Given the description of an element on the screen output the (x, y) to click on. 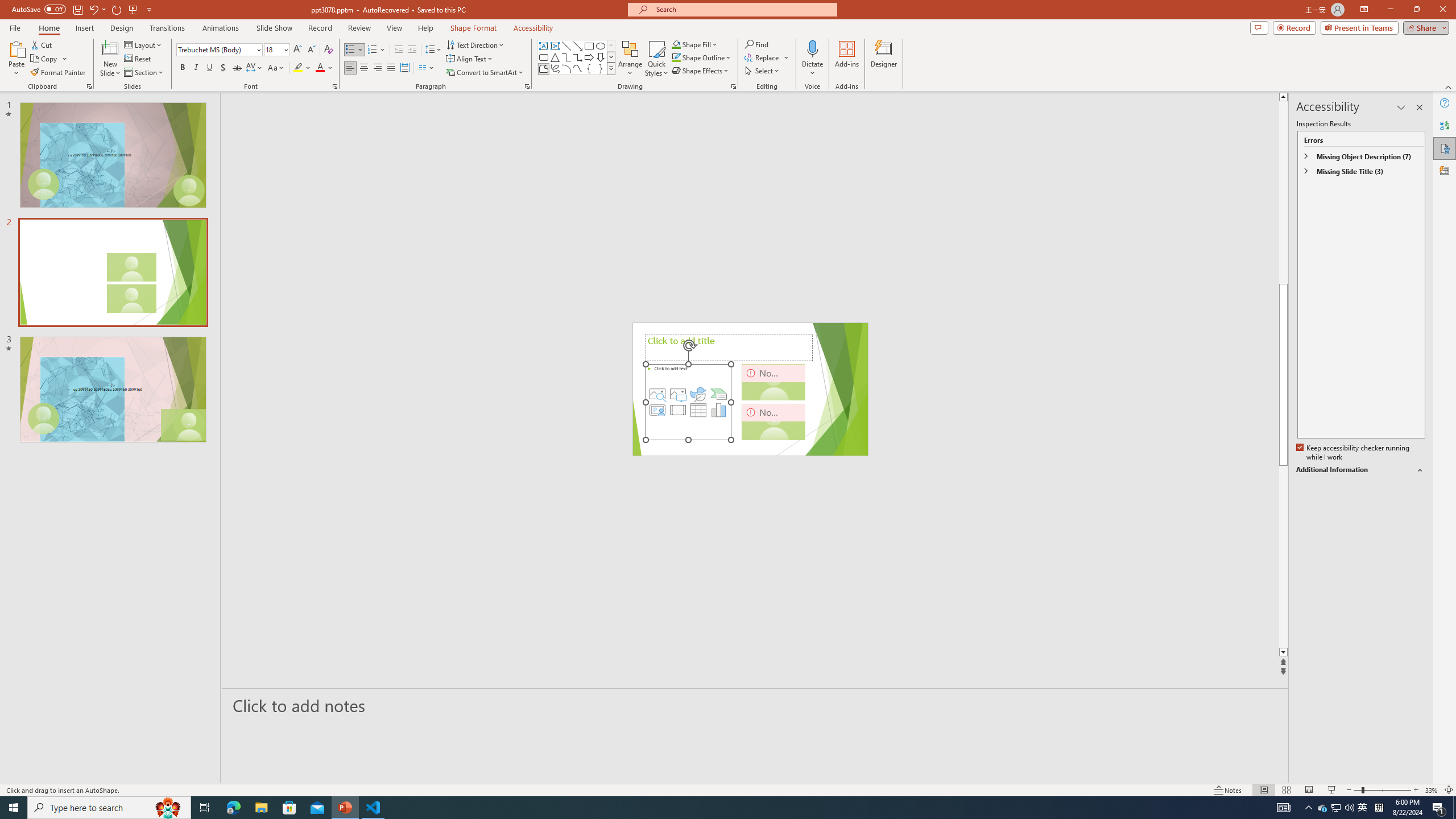
Content Placeholder (688, 401)
